Given the description of an element on the screen output the (x, y) to click on. 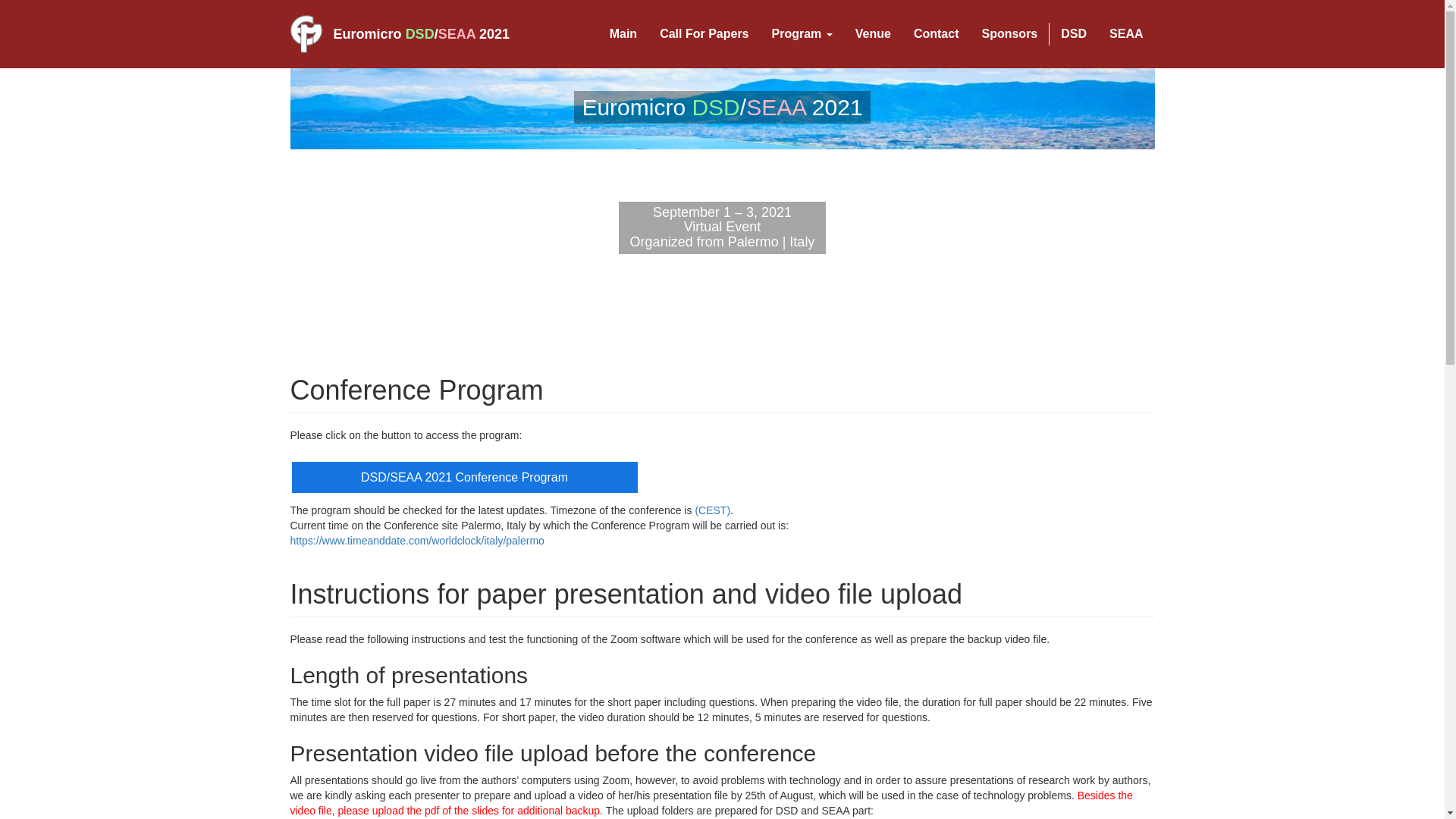
Sponsors (1008, 34)
SEAA (457, 33)
DSD (419, 33)
Contact (936, 34)
Call For Papers (703, 34)
DSD (1073, 34)
Euromicro (367, 33)
Main (622, 34)
Program (802, 34)
Call For Papers (703, 34)
